Given the description of an element on the screen output the (x, y) to click on. 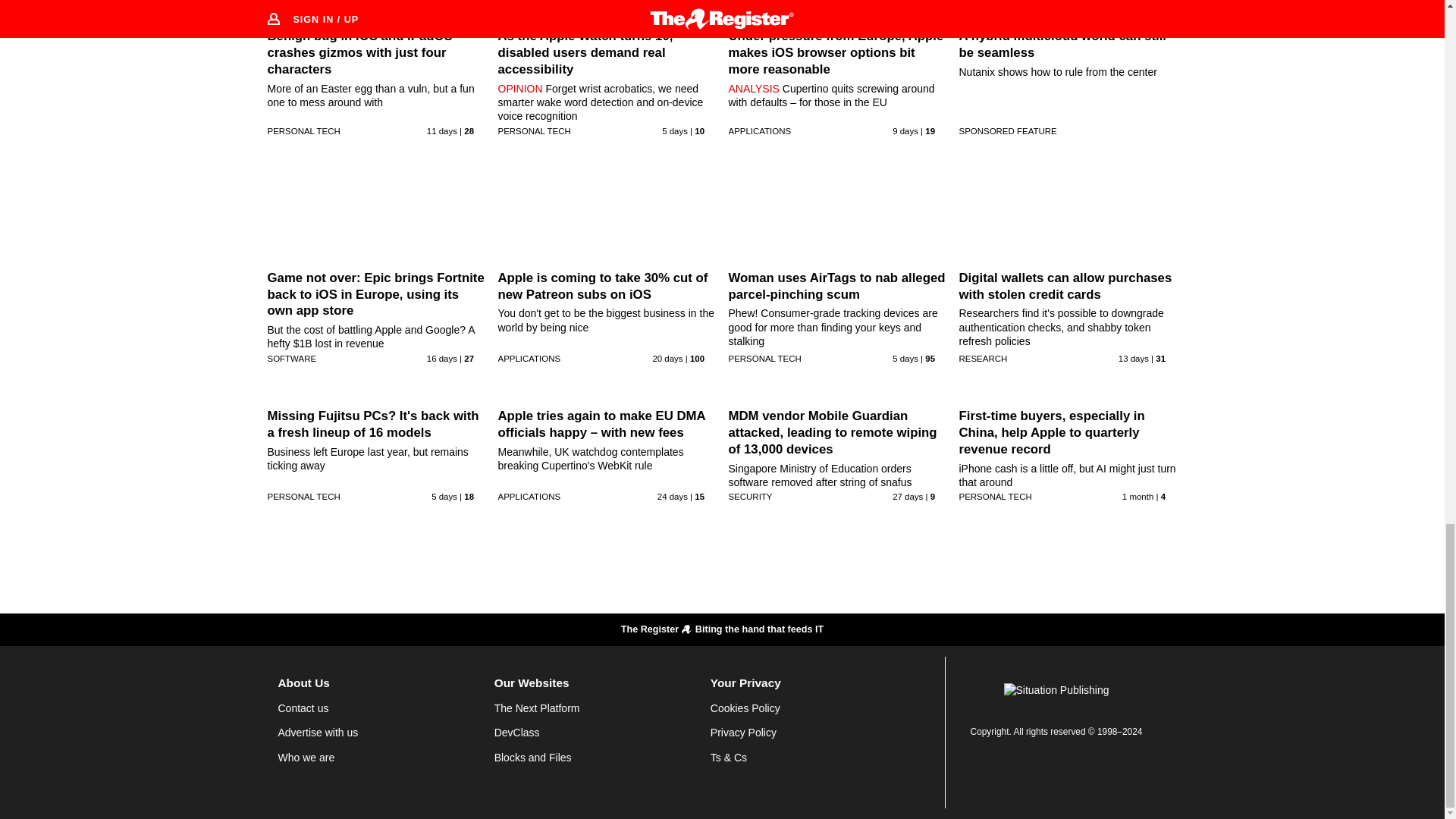
28 Aug 2024 12:14 (443, 496)
17 Aug 2024 7:2 (441, 358)
12 Aug 2024 23:28 (667, 358)
22 Aug 2024 15:29 (441, 130)
9 Aug 2024 11:1 (672, 496)
24 Aug 2024 7:18 (905, 130)
28 Aug 2024 7:30 (905, 358)
28 Aug 2024 10:35 (674, 130)
20 Aug 2024 1:29 (1133, 358)
